Given the description of an element on the screen output the (x, y) to click on. 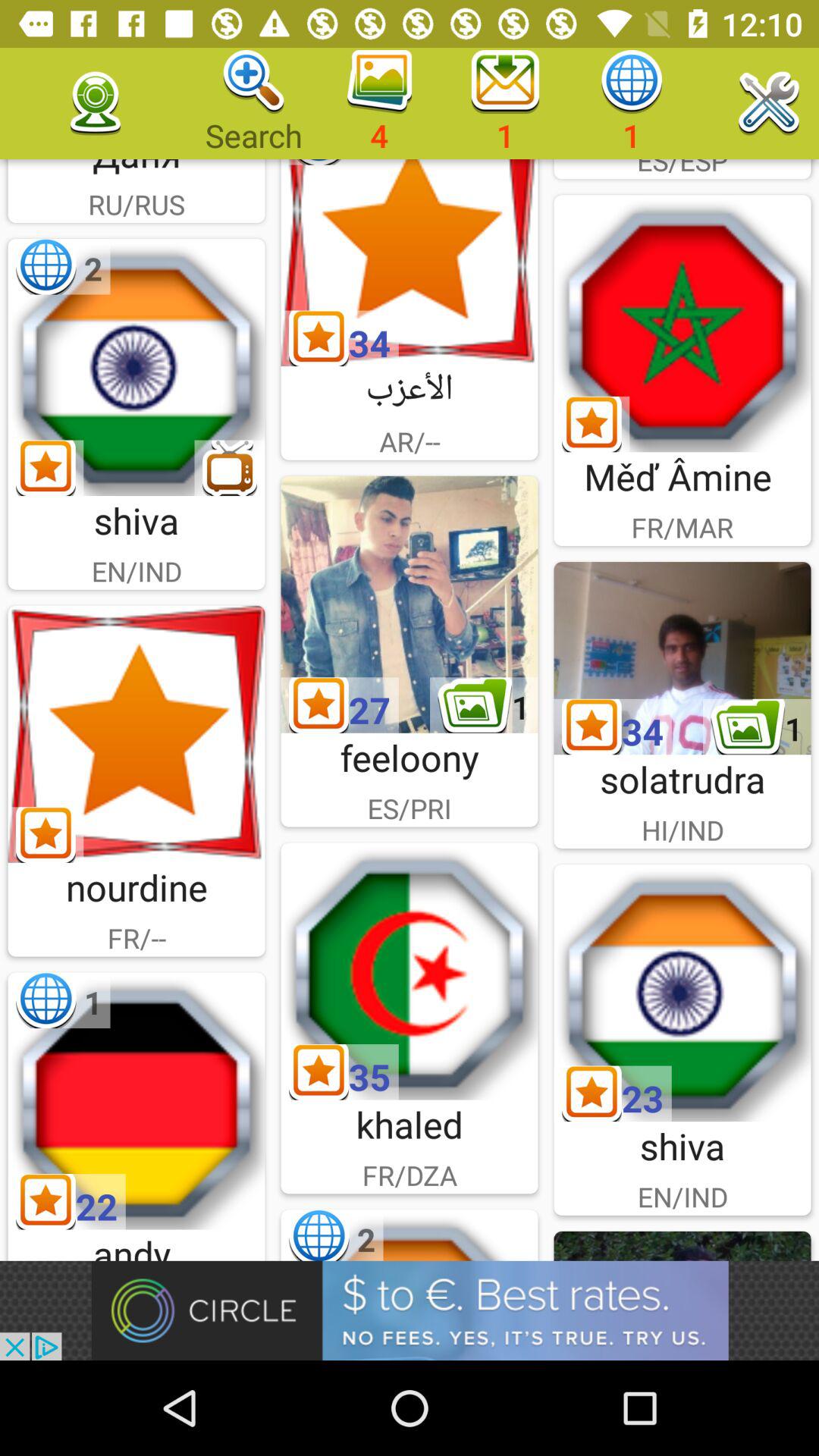
show detail (682, 657)
